Given the description of an element on the screen output the (x, y) to click on. 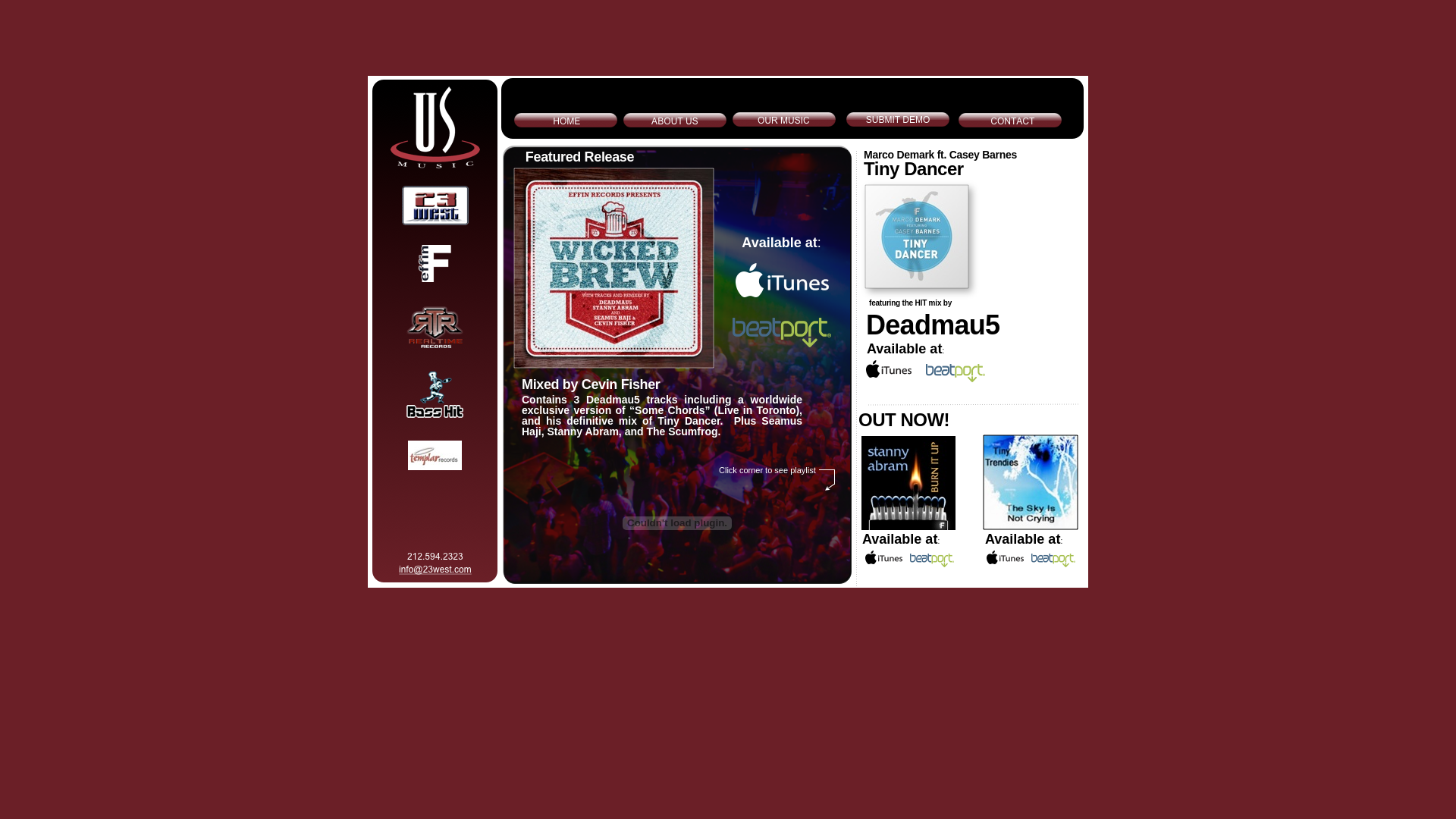
music.html Element type: hover (434, 277)
http://itunes.apple.com/us/album/leave-a-message/id112118715 Element type: hover (434, 465)
about.html Element type: hover (434, 220)
http://www.beatport.com/release/wicked-brew/901316 Element type: hover (781, 342)
http://itunes.apple.com/us/album/tiny-dancer/id272890728 Element type: hover (888, 373)
realtime.html Element type: hover (434, 343)
http://www.beatport.com/release/the-sky-is-not-crying/435571 Element type: hover (1053, 562)
wickedsheet.html Element type: hover (613, 363)
http://itunes.apple.com/us/album/tiny-dancer/id272890728 Element type: hover (916, 283)
http://itunes.apple.com/us/album/wicked-brew/id520527274 Element type: hover (781, 292)
